Given the description of an element on the screen output the (x, y) to click on. 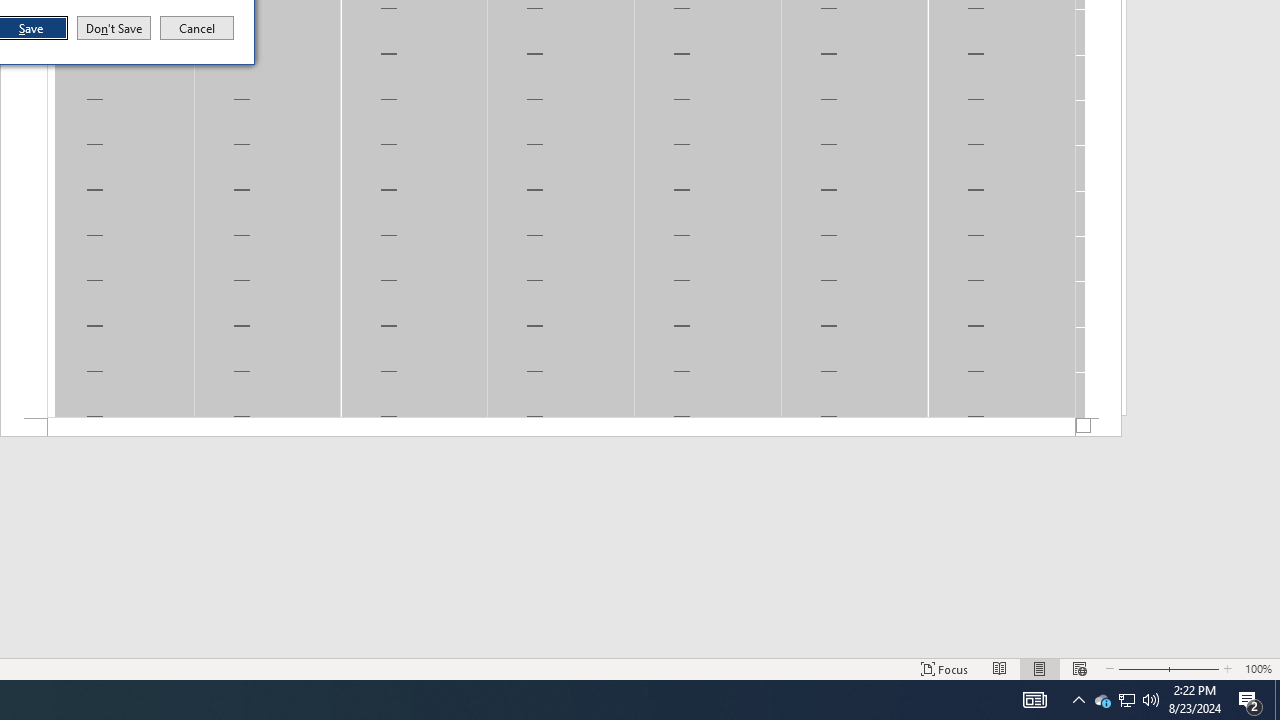
Don't Save (113, 27)
